Given the description of an element on the screen output the (x, y) to click on. 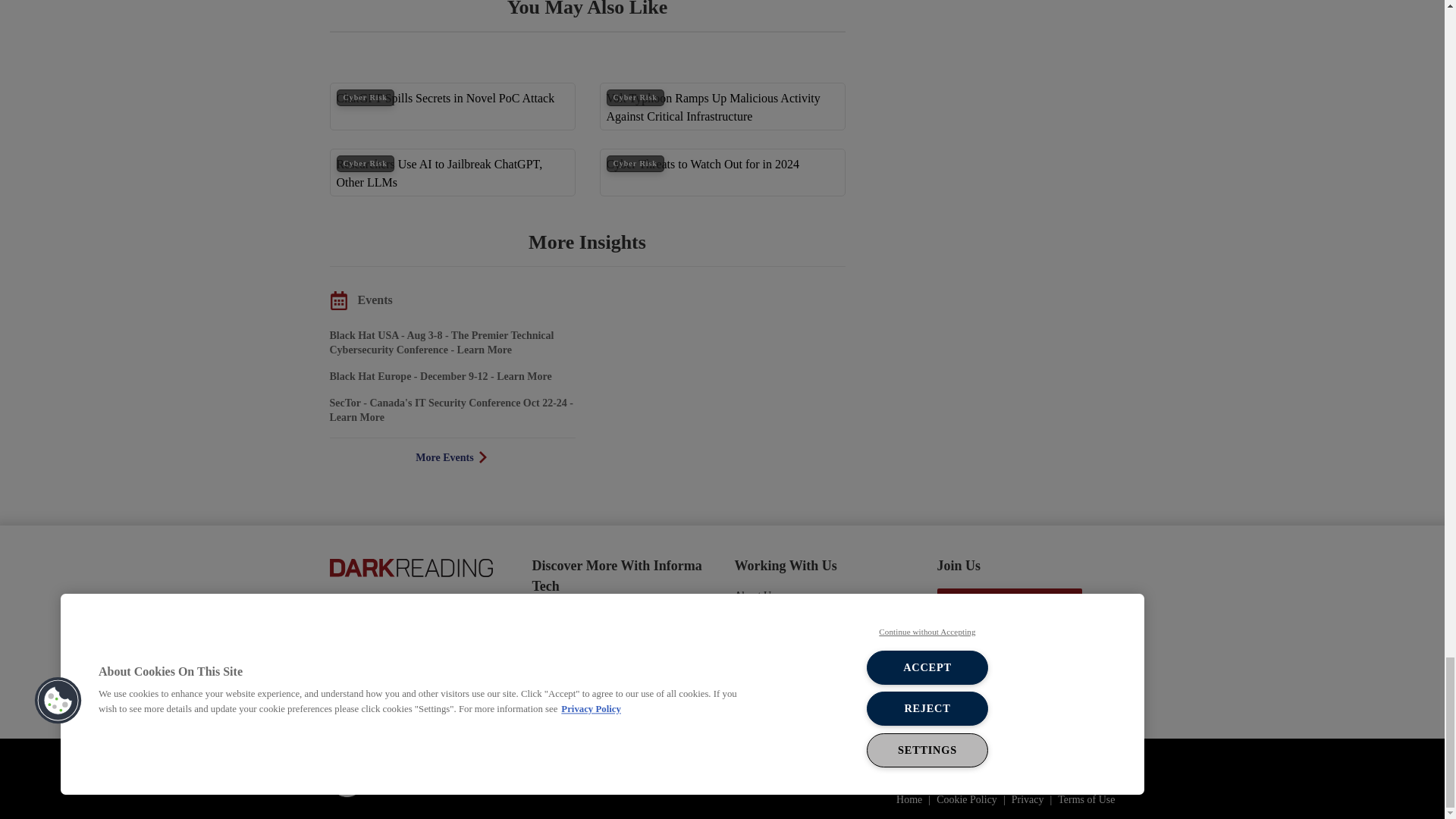
Logo (410, 566)
Informa Tech (404, 778)
